Given the description of an element on the screen output the (x, y) to click on. 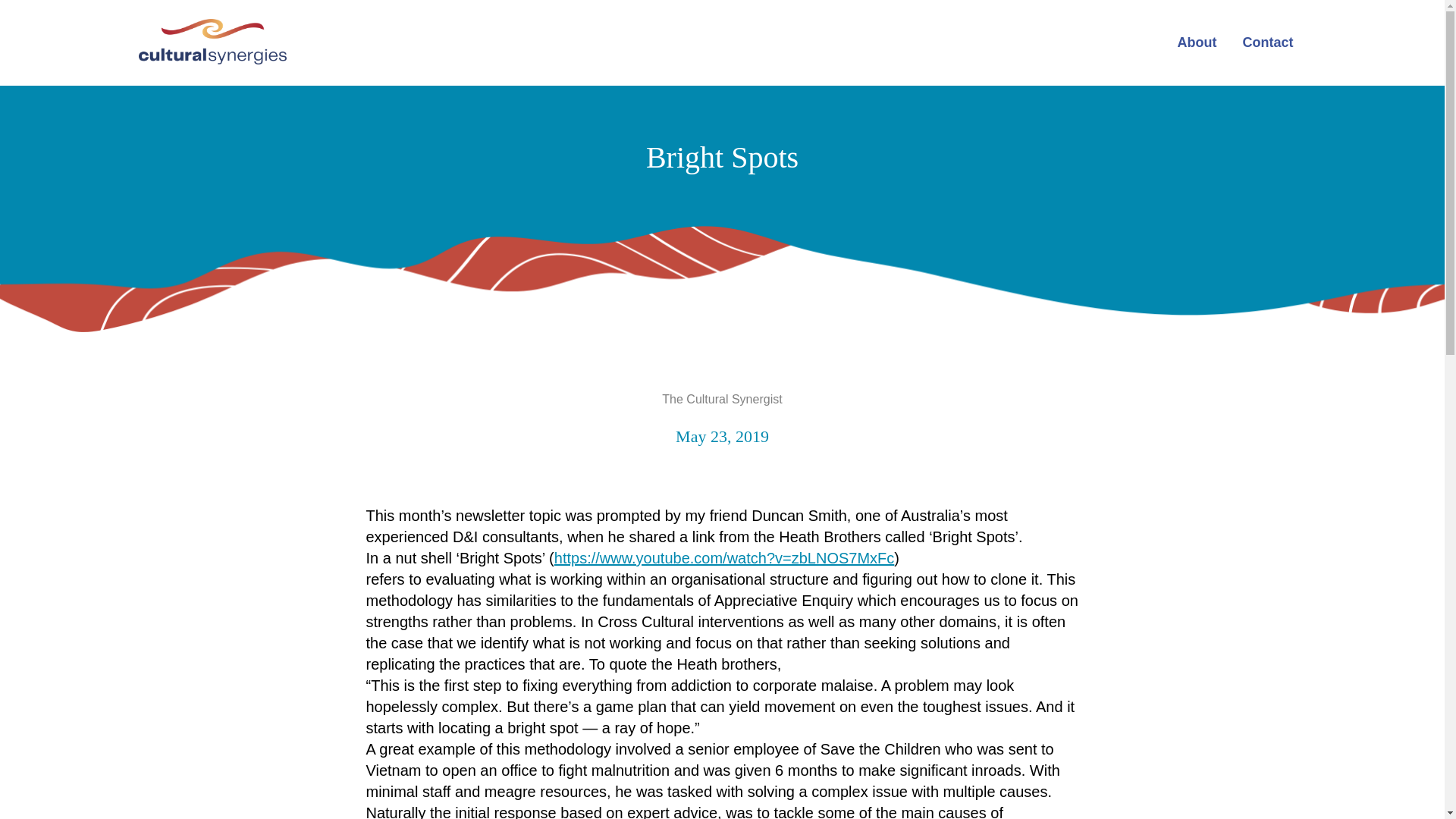
Cultural Synergies (219, 41)
About (1197, 42)
Contact (1267, 42)
